Given the description of an element on the screen output the (x, y) to click on. 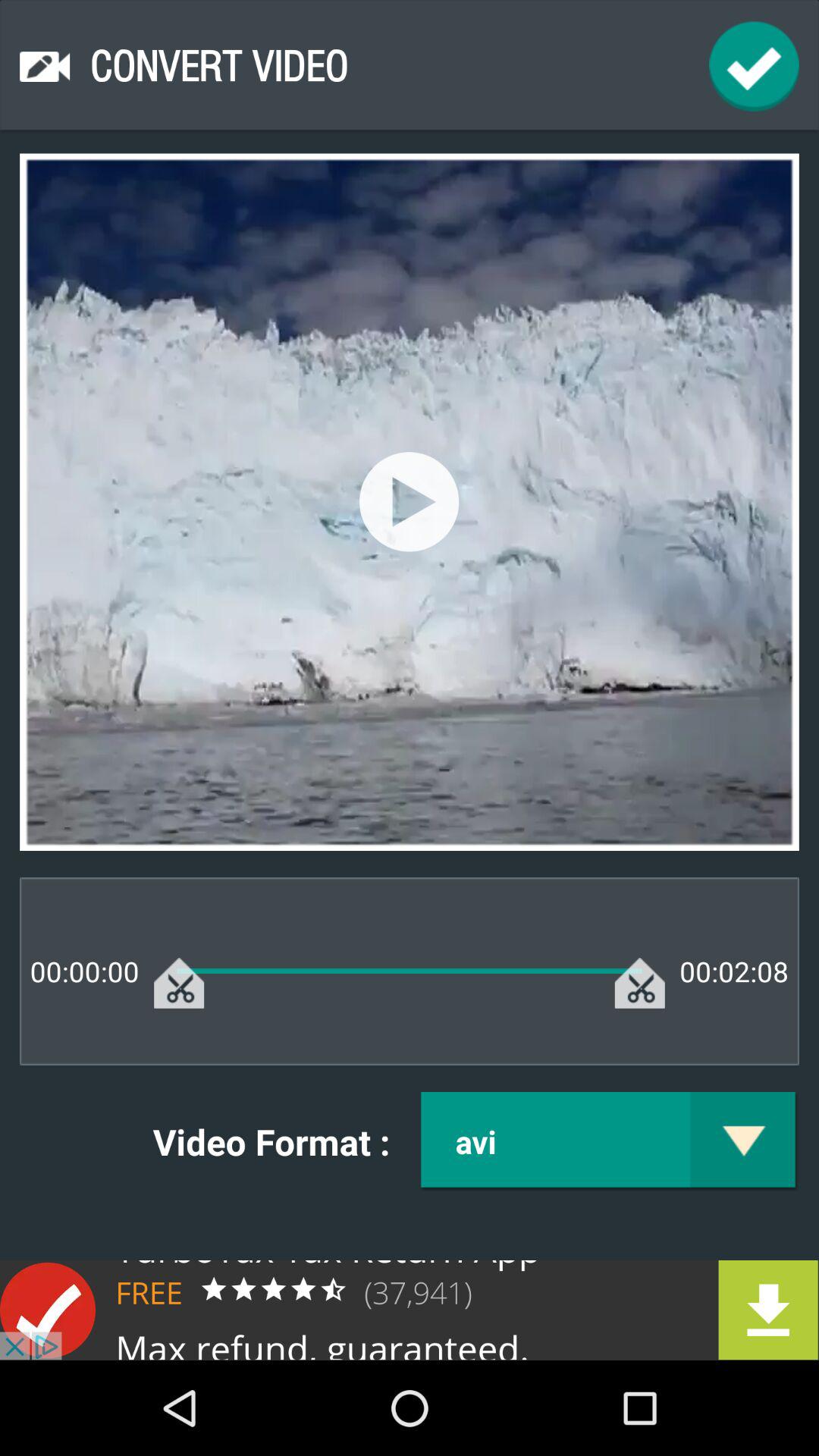
go to another site (409, 1309)
